Given the description of an element on the screen output the (x, y) to click on. 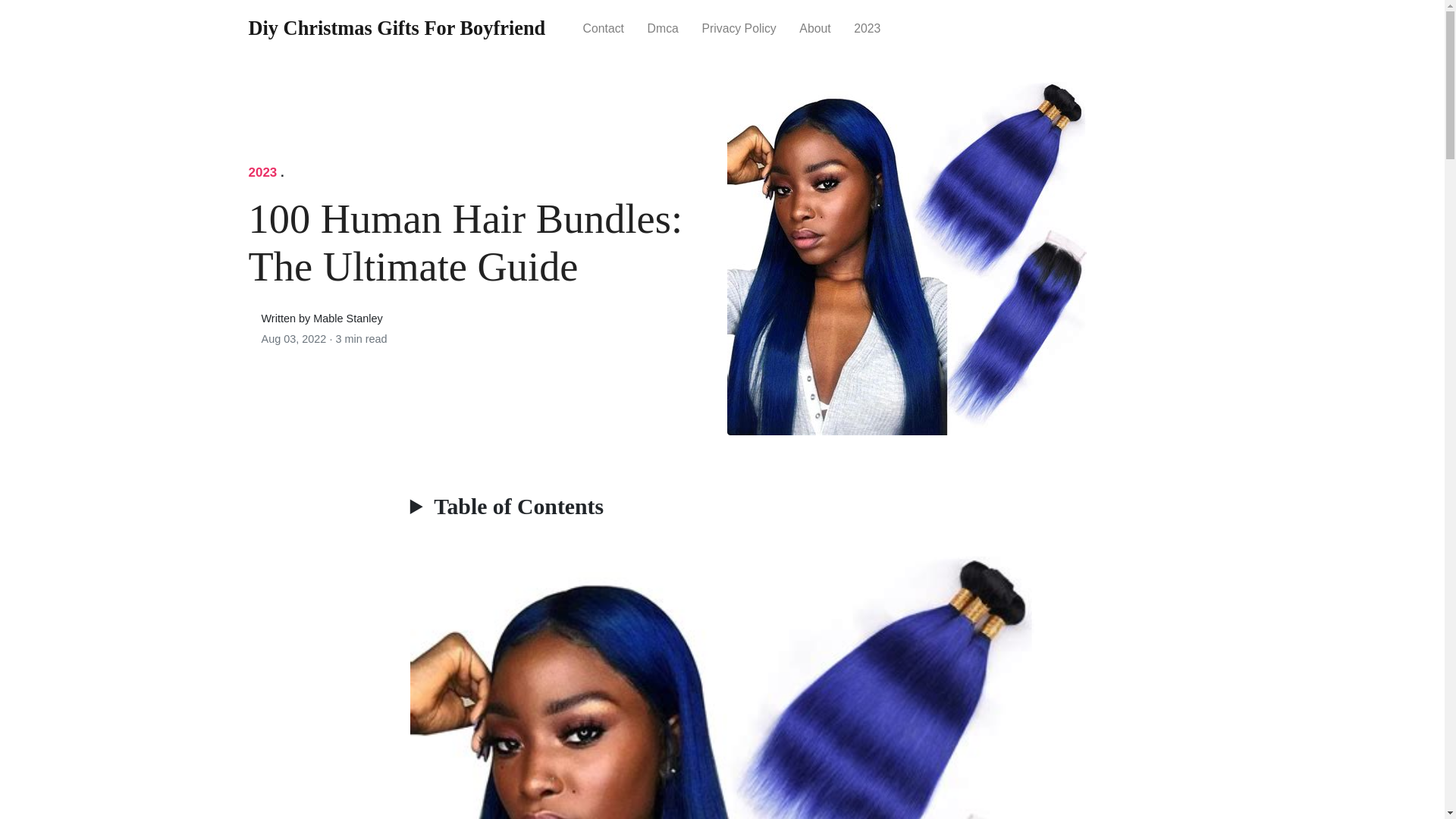
2023 (263, 172)
Contact (602, 27)
Diy Christmas Gifts For Boyfriend (397, 28)
Privacy Policy (738, 27)
About (815, 27)
2023 (263, 172)
Dmca (662, 27)
2023 (867, 27)
2023 (867, 27)
